Given the description of an element on the screen output the (x, y) to click on. 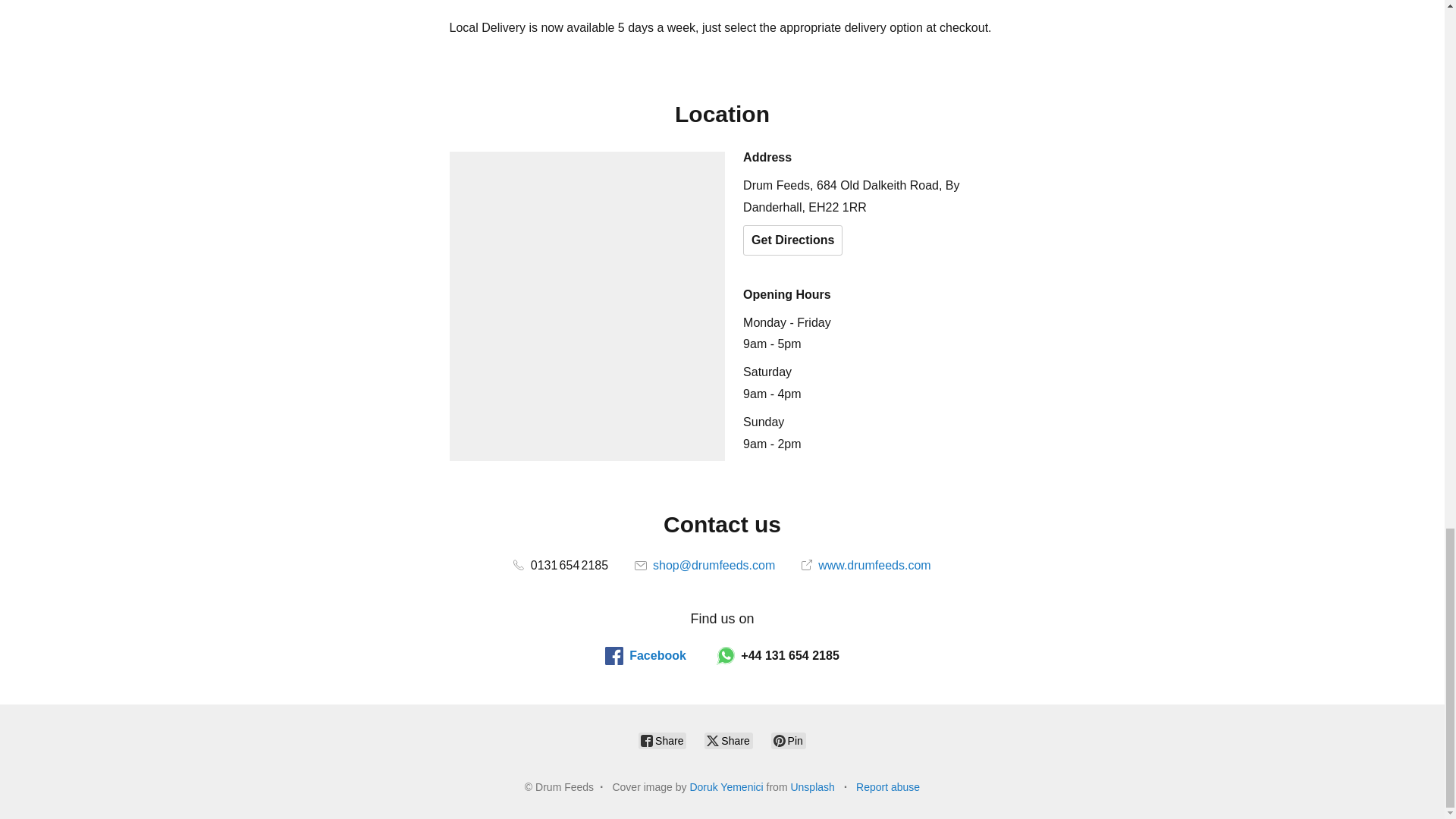
Share (662, 740)
Share (728, 740)
Report abuse (888, 787)
www.drumfeeds.com (866, 564)
Unsplash (812, 787)
Facebook (645, 656)
Pin (788, 740)
Doruk Yemenici (725, 787)
Location on map (586, 306)
